Given the description of an element on the screen output the (x, y) to click on. 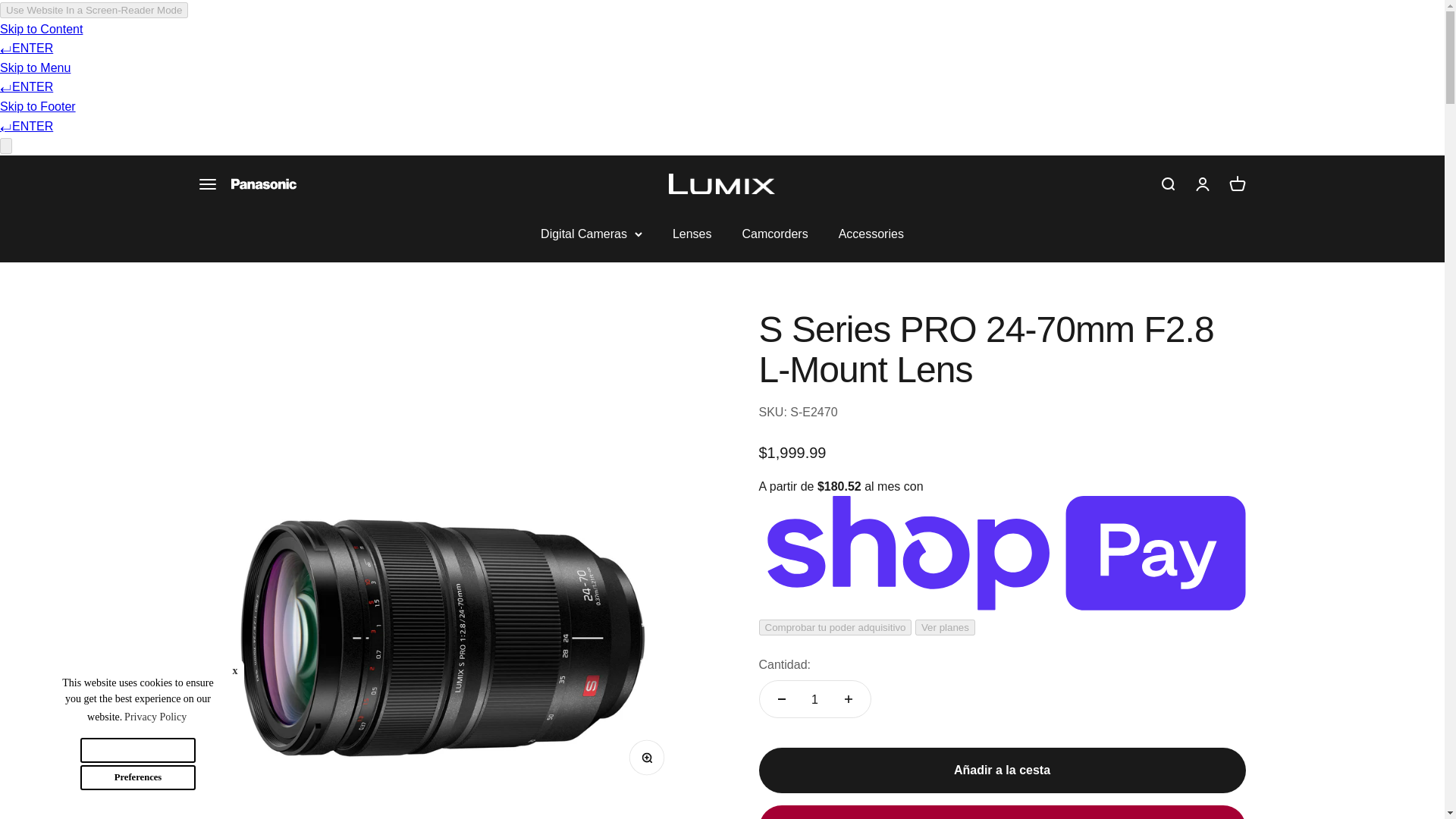
Camcorders (774, 233)
Accessories (871, 233)
Lenses (691, 233)
Shop Panasonic USA (1236, 183)
